Given the description of an element on the screen output the (x, y) to click on. 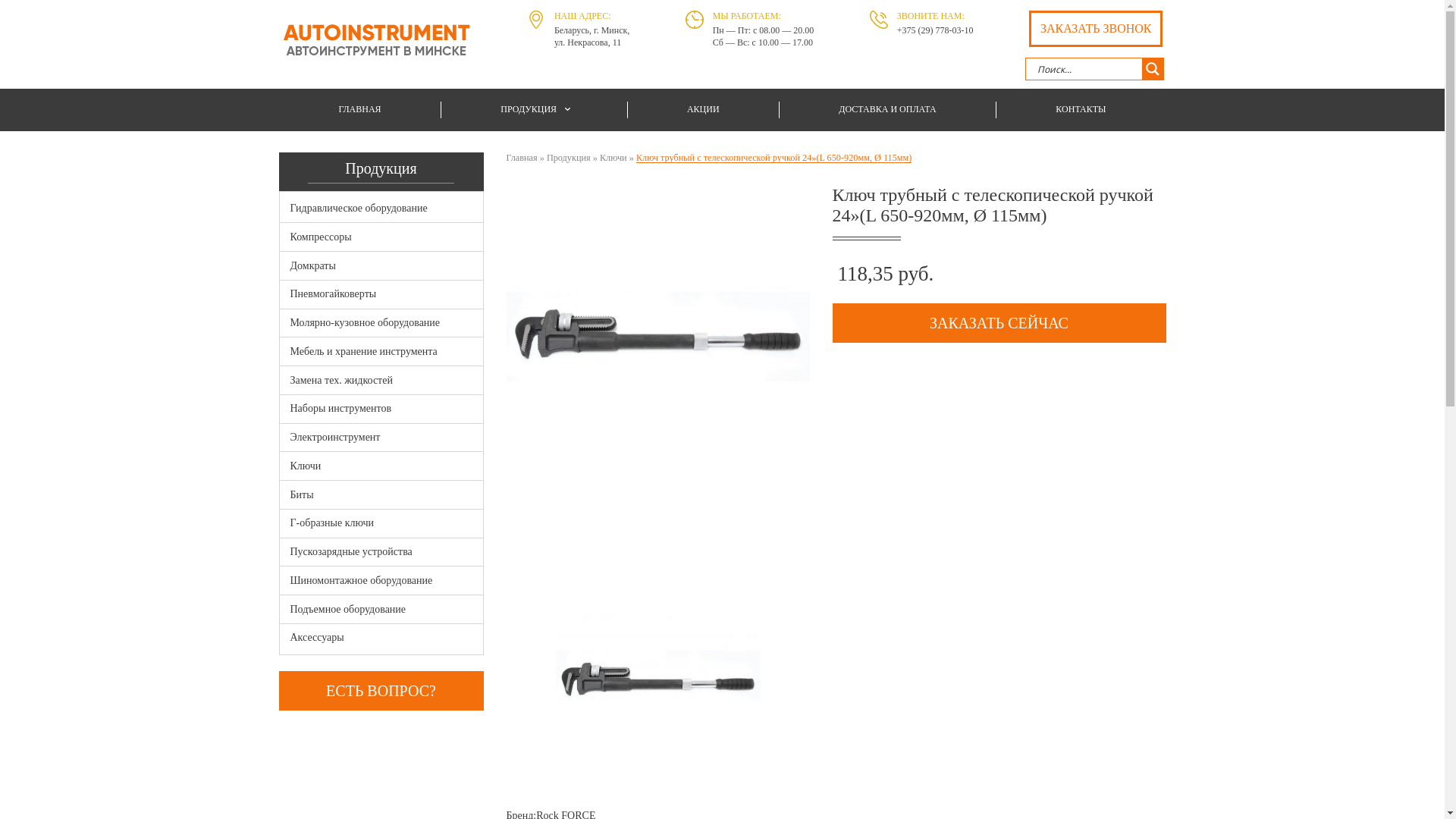
+375 (29) 778-03-10 Element type: text (935, 30)
